Given the description of an element on the screen output the (x, y) to click on. 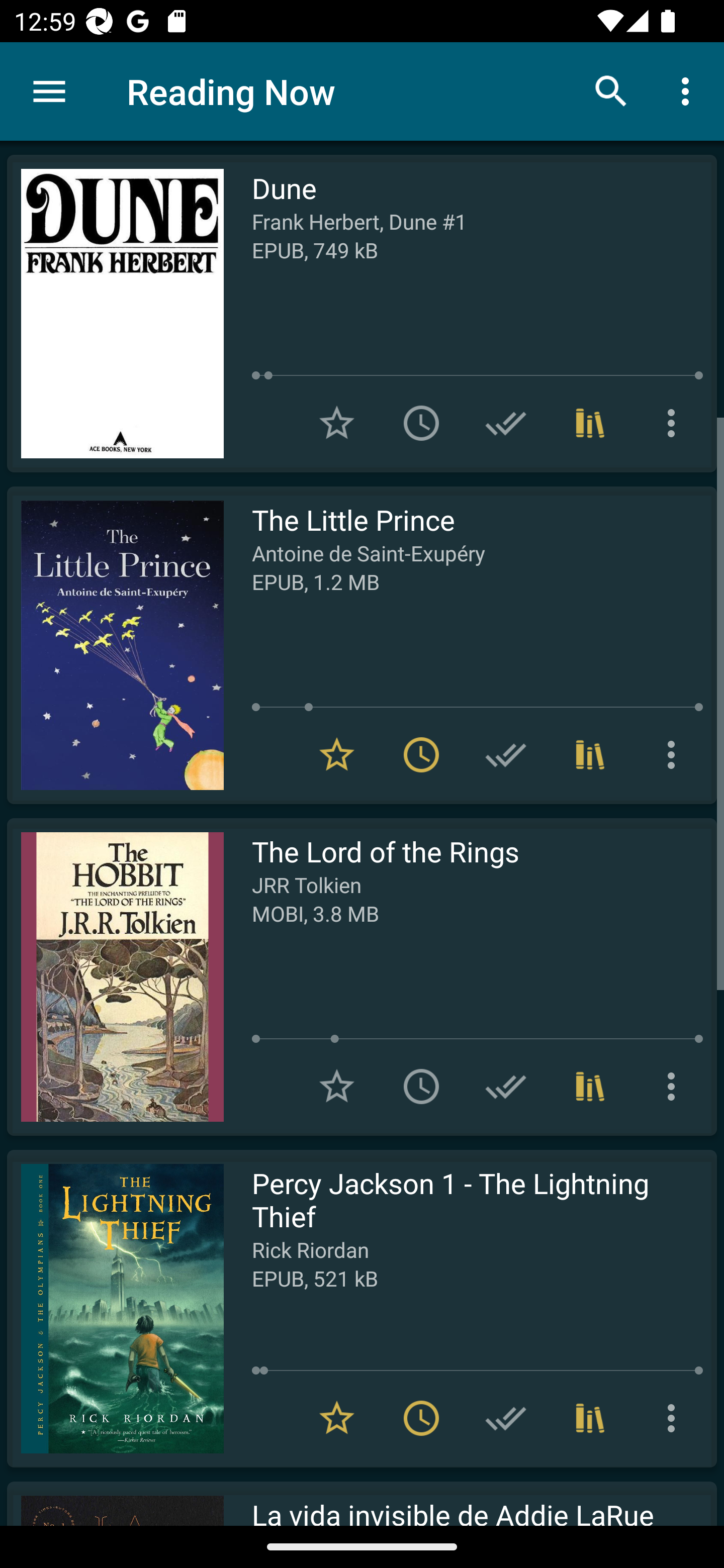
Menu (49, 91)
Search books & documents (611, 90)
More options (688, 90)
Read Dune (115, 313)
Add to Favorites (336, 423)
Add to To read (421, 423)
Add to Have read (505, 423)
Collections (1) (590, 423)
More options (674, 423)
Read The Little Prince (115, 645)
Remove from Favorites (336, 753)
Remove from To read (421, 753)
Add to Have read (505, 753)
Collections (1) (590, 753)
More options (674, 753)
Read The Lord of the Rings (115, 976)
Add to Favorites (336, 1086)
Add to To read (421, 1086)
Add to Have read (505, 1086)
Collections (1) (590, 1086)
More options (674, 1086)
Read Percy Jackson 1 - The Lightning Thief (115, 1308)
Remove from Favorites (336, 1417)
Remove from To read (421, 1417)
Add to Have read (505, 1417)
Collections (1) (590, 1417)
More options (674, 1417)
